Given the description of an element on the screen output the (x, y) to click on. 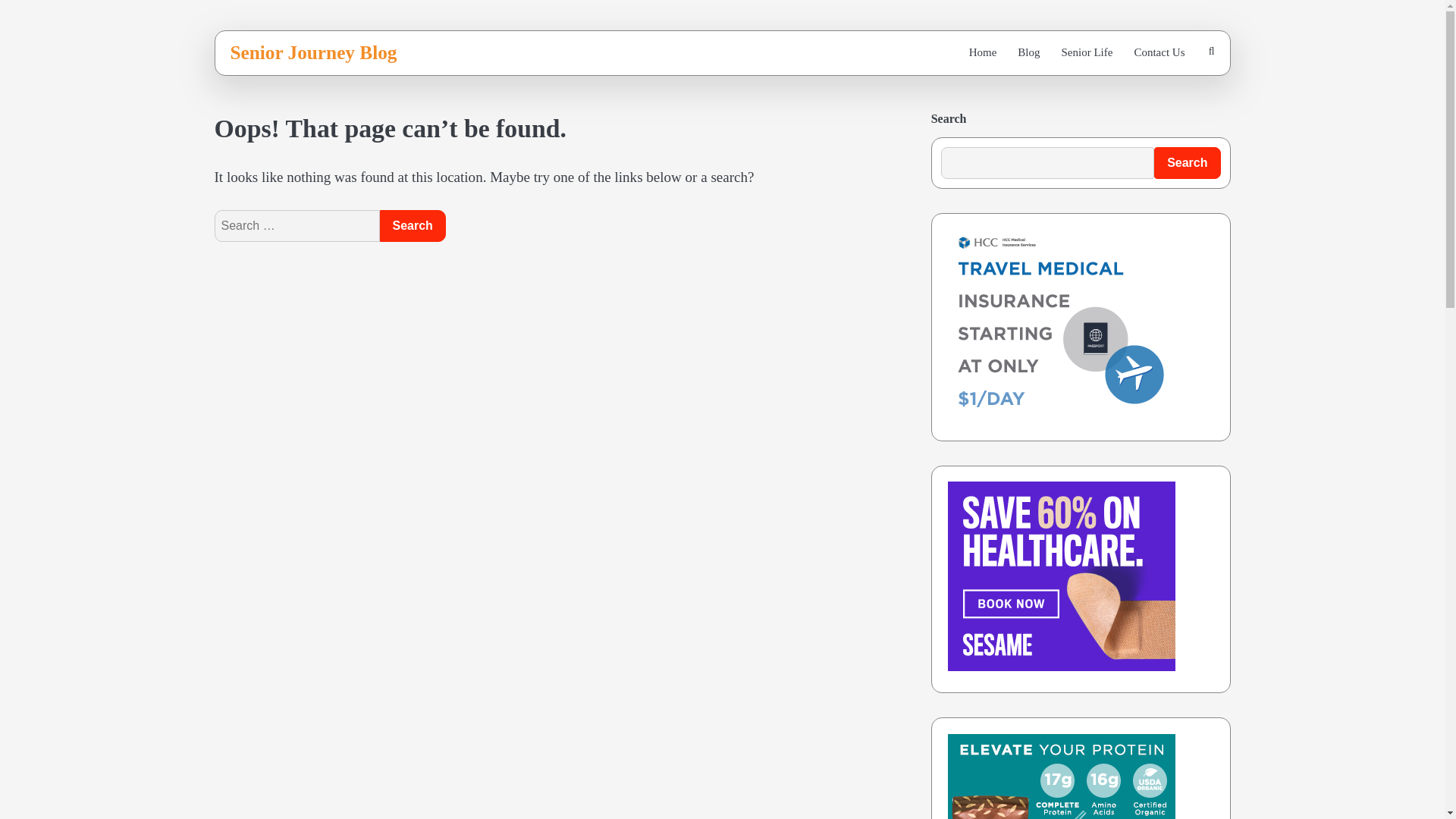
Search (1187, 163)
Blog (1028, 52)
Senior Life (1087, 52)
Search (411, 225)
Senior Journey Blog (313, 52)
Search (411, 225)
Search (1175, 94)
Contact Us (1158, 52)
Search (411, 225)
Home (982, 52)
